Given the description of an element on the screen output the (x, y) to click on. 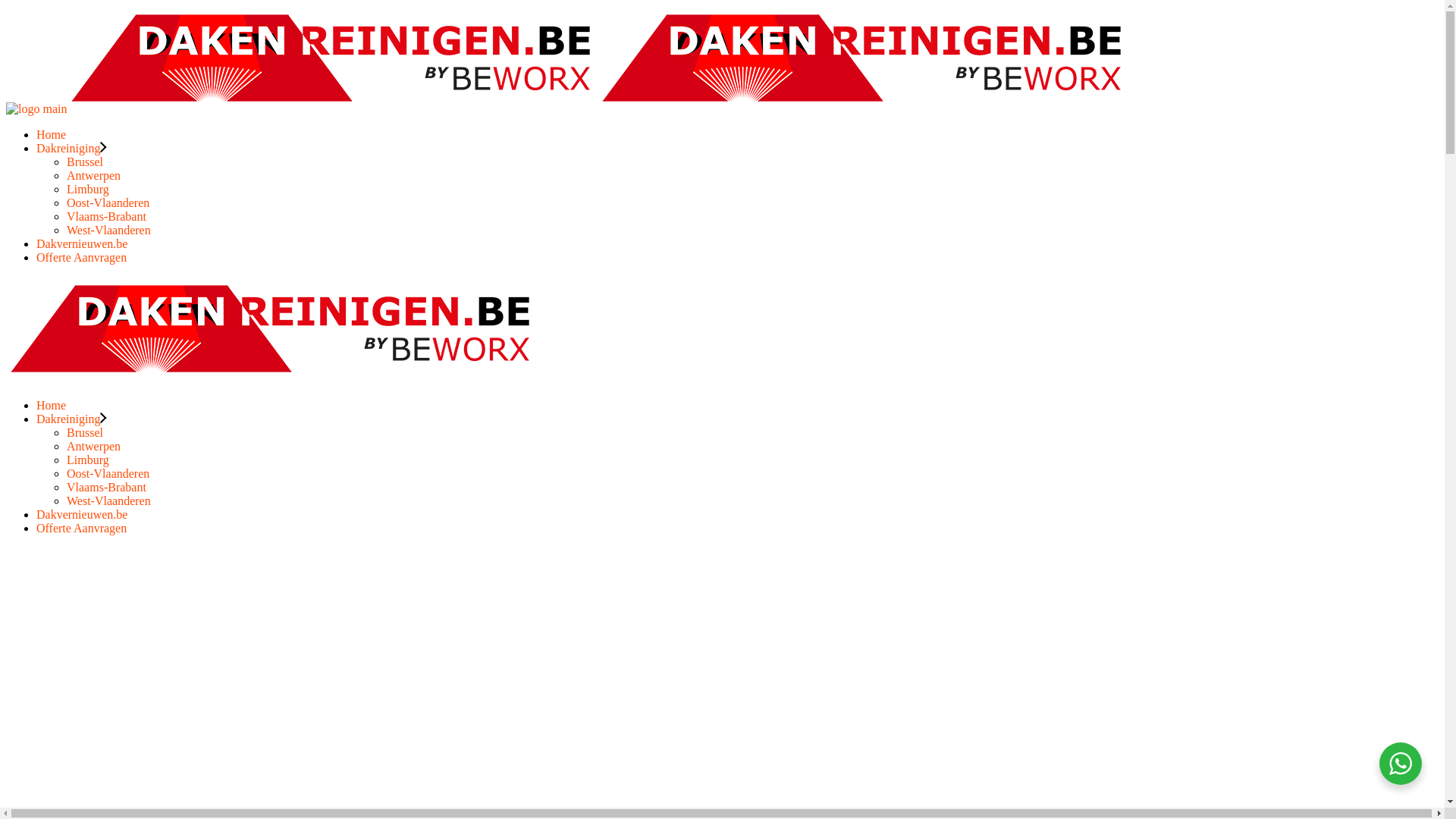
Antwerpen Element type: text (93, 445)
West-Vlaanderen Element type: text (108, 229)
Vlaams-Brabant Element type: text (106, 216)
Home Element type: text (50, 404)
West-Vlaanderen Element type: text (108, 500)
Dakreiniging Element type: text (68, 418)
Dakvernieuwen.be Element type: text (81, 514)
Oost-Vlaanderen Element type: text (107, 473)
Offerte Aanvragen Element type: text (81, 527)
Oost-Vlaanderen Element type: text (107, 202)
Vlaams-Brabant Element type: text (106, 486)
Dakvernieuwen.be Element type: text (81, 243)
Skip to the content Element type: text (5, 5)
Offerte Aanvragen Element type: text (81, 257)
Brussel Element type: text (84, 432)
Home Element type: text (50, 134)
Antwerpen Element type: text (93, 175)
Dakreiniging Element type: text (71, 147)
Limburg Element type: text (87, 188)
Brussel Element type: text (84, 161)
Limburg Element type: text (87, 459)
